Given the description of an element on the screen output the (x, y) to click on. 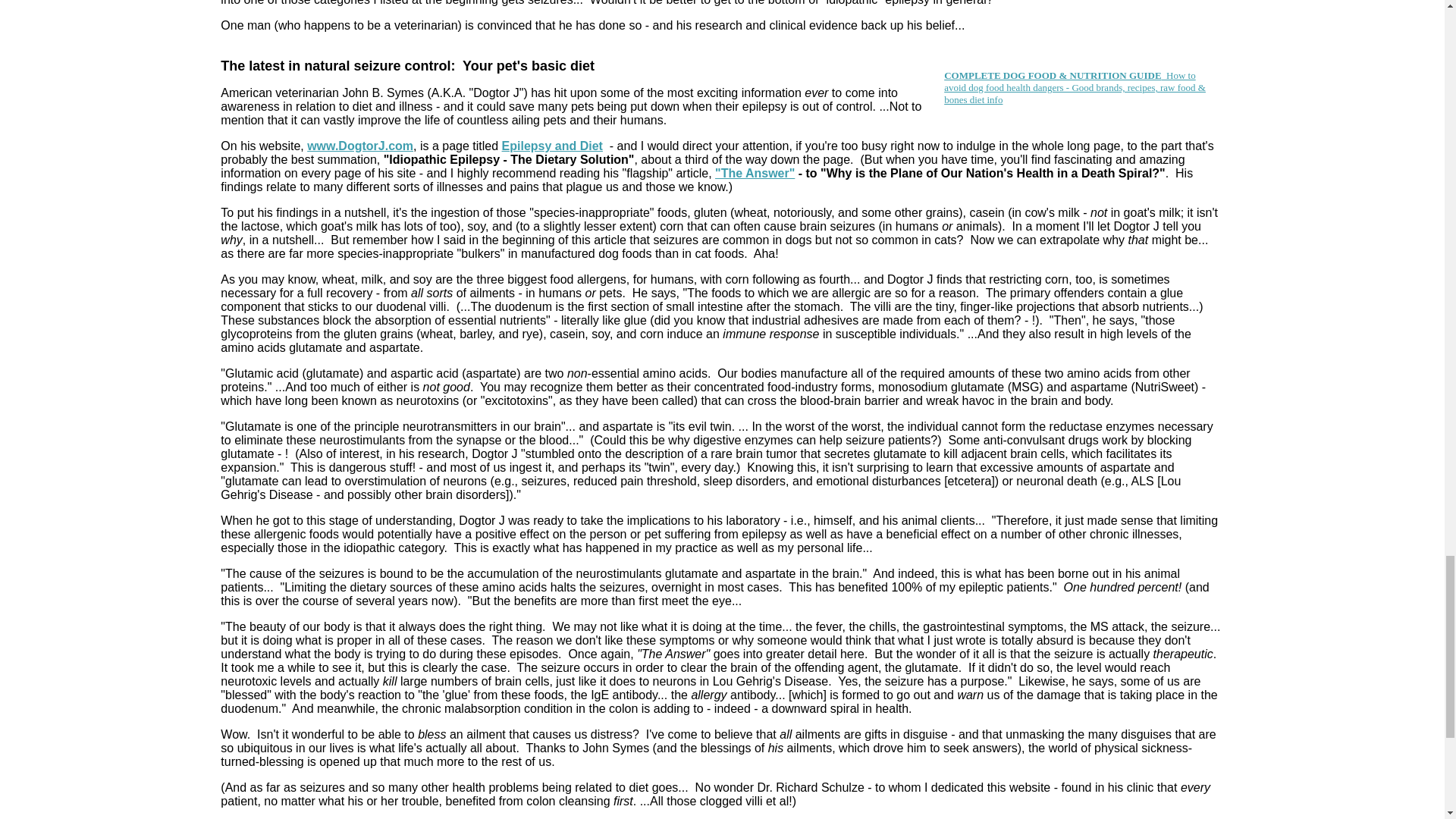
"The Answer" (754, 173)
www.DogtorJ.com (360, 145)
Epilepsy and Diet (552, 145)
